Given the description of an element on the screen output the (x, y) to click on. 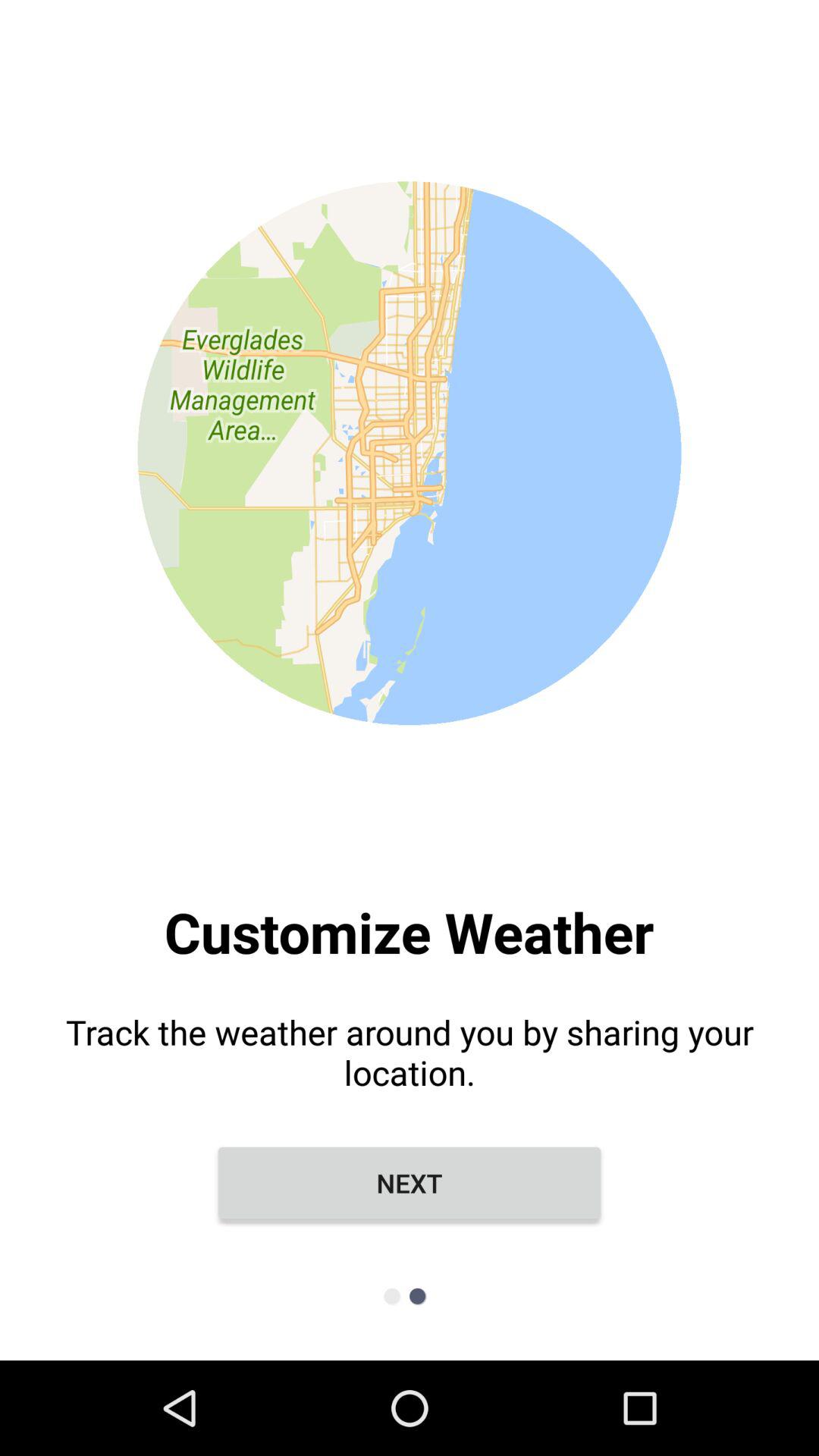
flip to next (409, 1182)
